Given the description of an element on the screen output the (x, y) to click on. 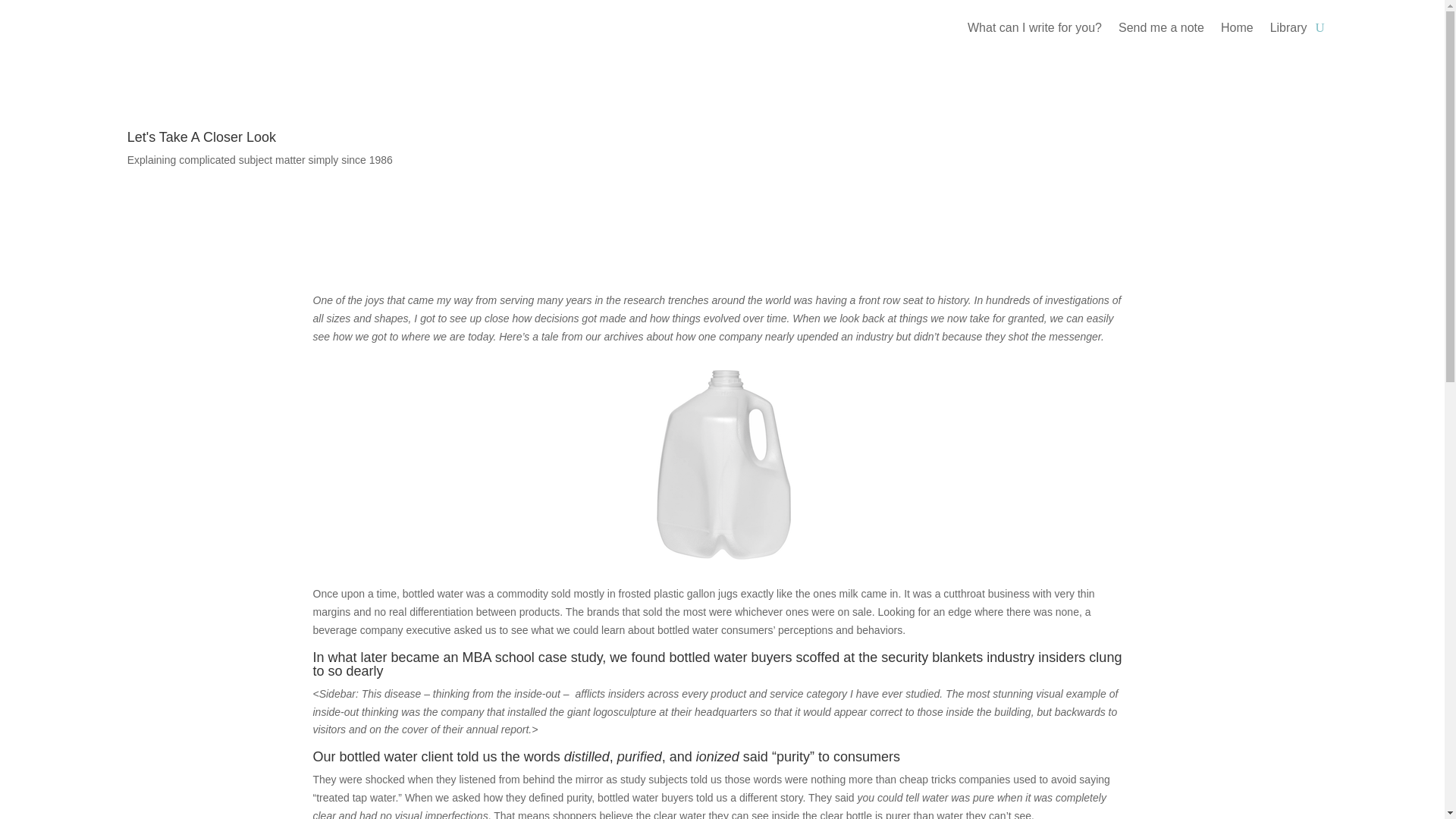
Send me a note (1161, 30)
Home (1237, 30)
What can I write for you? (1035, 30)
Library (1288, 30)
